Given the description of an element on the screen output the (x, y) to click on. 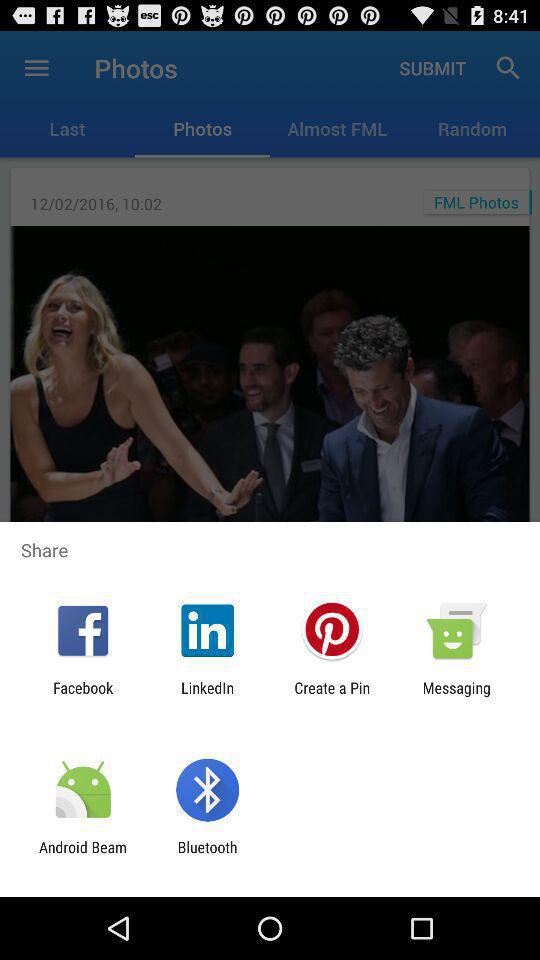
click app next to create a pin (207, 696)
